Given the description of an element on the screen output the (x, y) to click on. 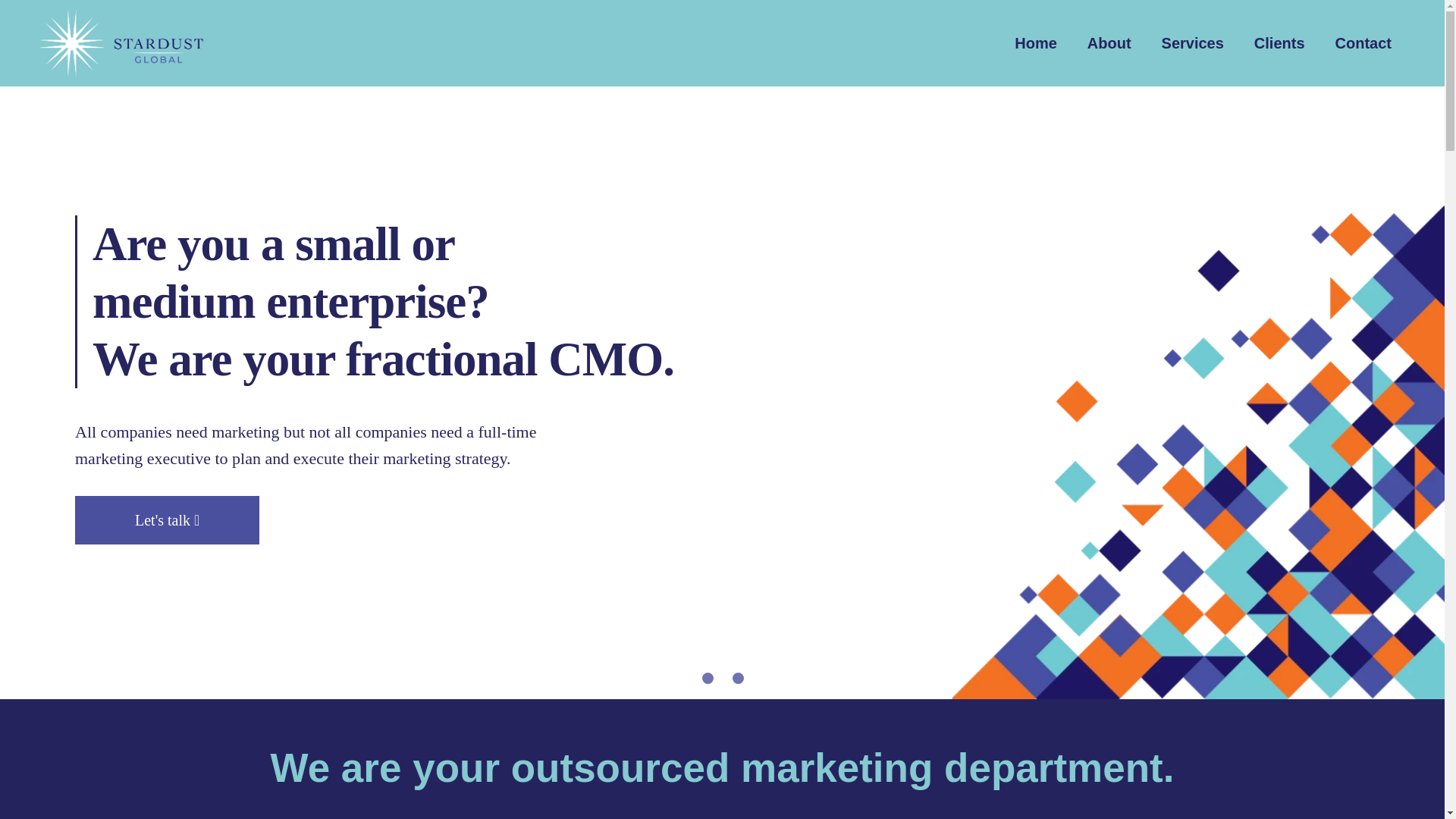
Services (1193, 43)
Clients (1279, 43)
Contact (1363, 43)
About (1109, 43)
Home (1034, 43)
